Given the description of an element on the screen output the (x, y) to click on. 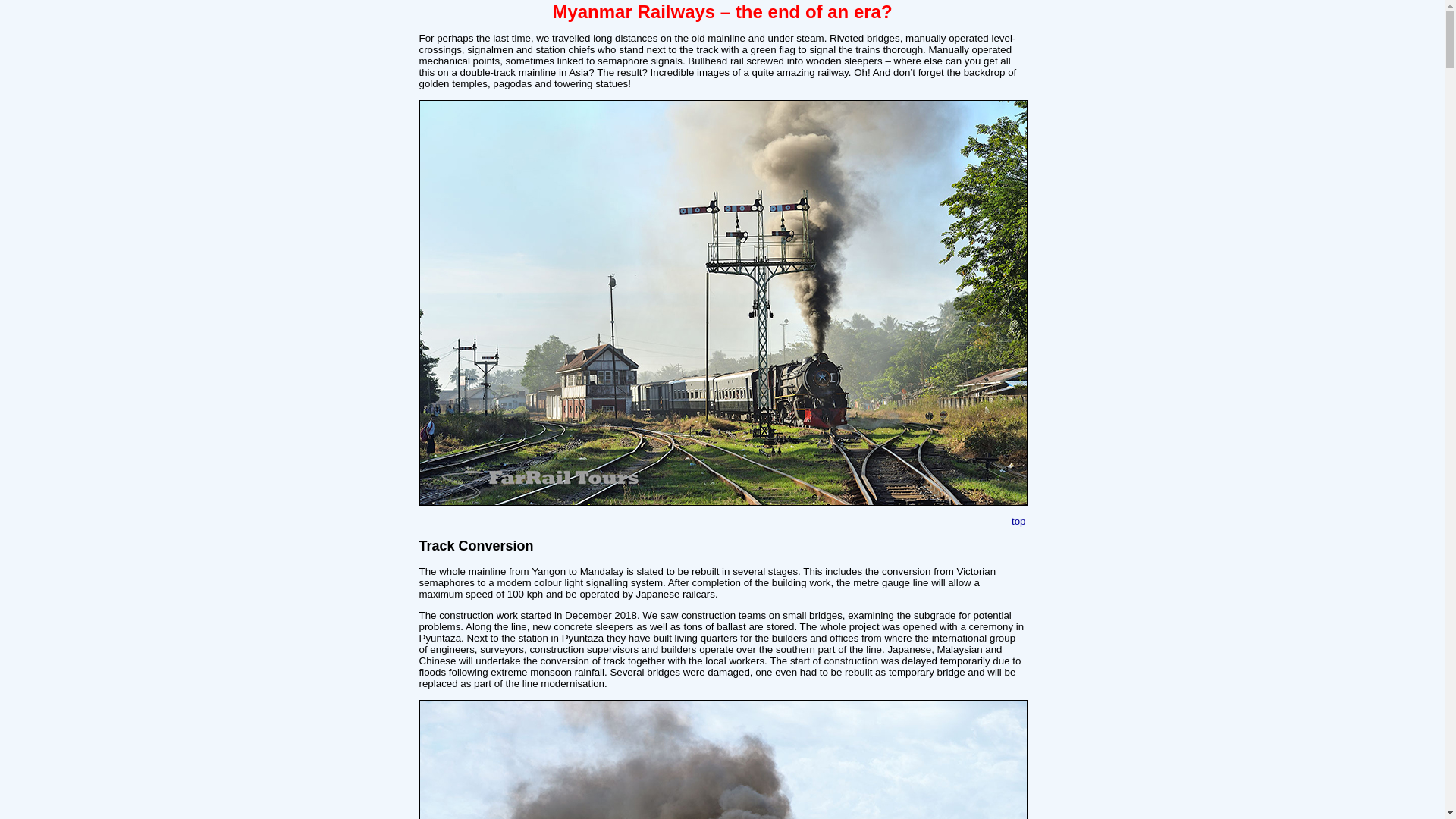
top (1018, 521)
